Given the description of an element on the screen output the (x, y) to click on. 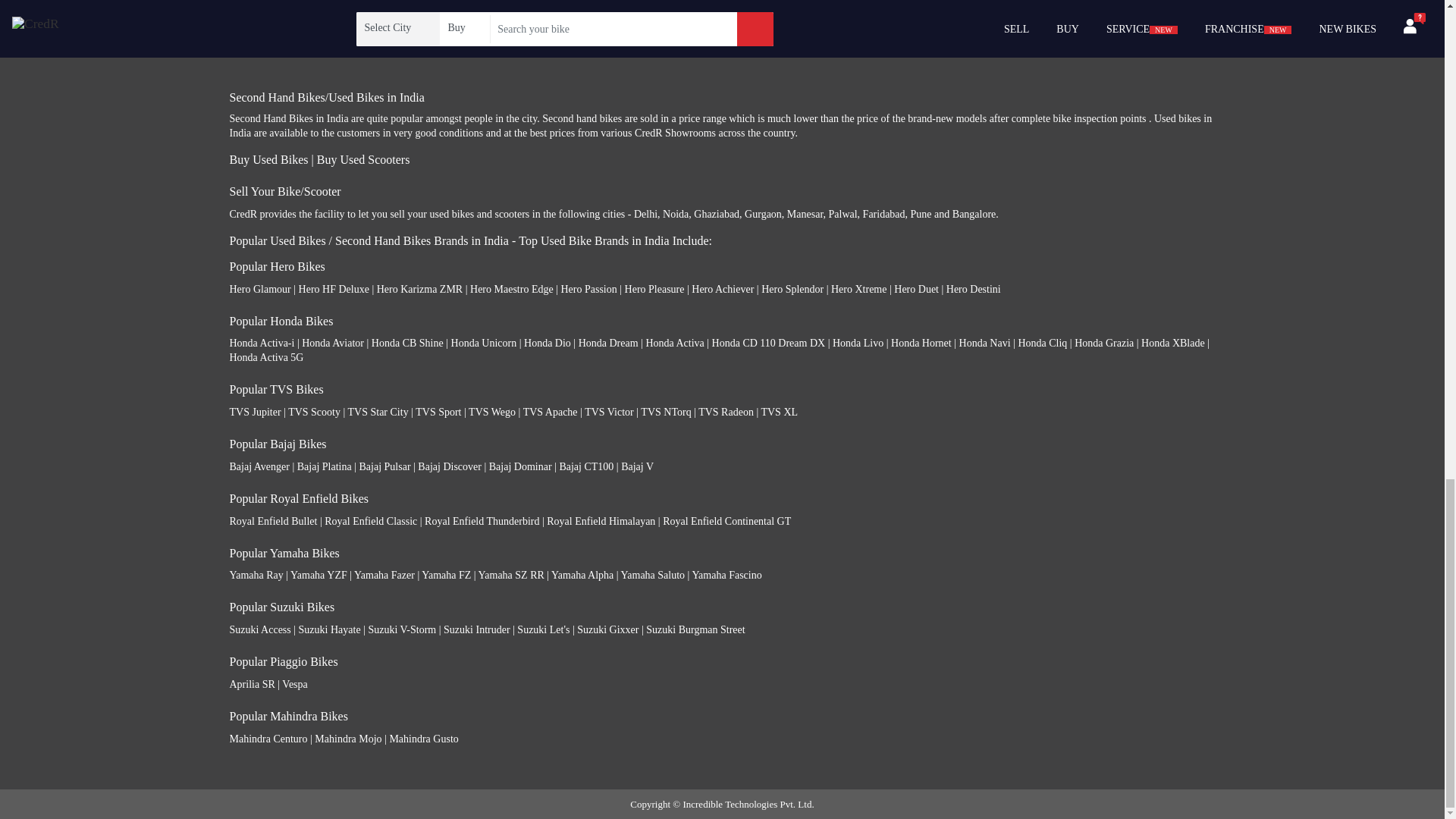
Buy Used Bikes (267, 159)
Hero Xtreme (858, 288)
Hero Achiever (722, 288)
888 488 5455 (509, 21)
Royal Enfield (255, 31)
Hero Maestro Edge (511, 288)
Hero Splendor (792, 288)
Hero Passion (587, 288)
KTM (239, 51)
Hero HF Deluxe (333, 288)
Hero Glamour (258, 288)
Hero (238, 12)
Popular Hero Bikes (276, 266)
Hero Pleasure (654, 288)
Buy Used Scooters (363, 159)
